Given the description of an element on the screen output the (x, y) to click on. 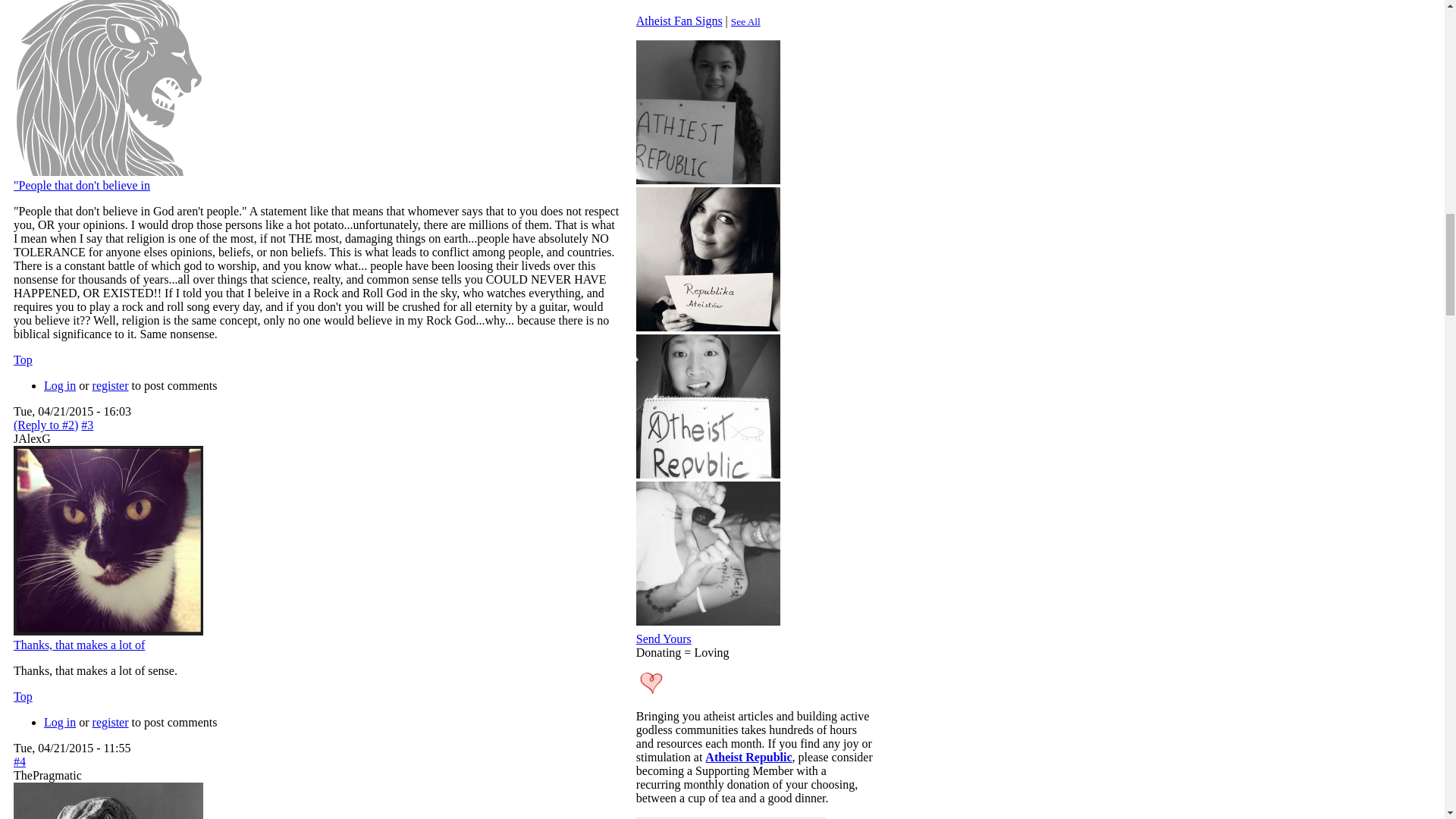
science's picture (108, 88)
Jump to top of page (22, 359)
JAlexG's picture (108, 540)
ThePragmatic's picture (108, 800)
Jump to top of page (22, 696)
